Given the description of an element on the screen output the (x, y) to click on. 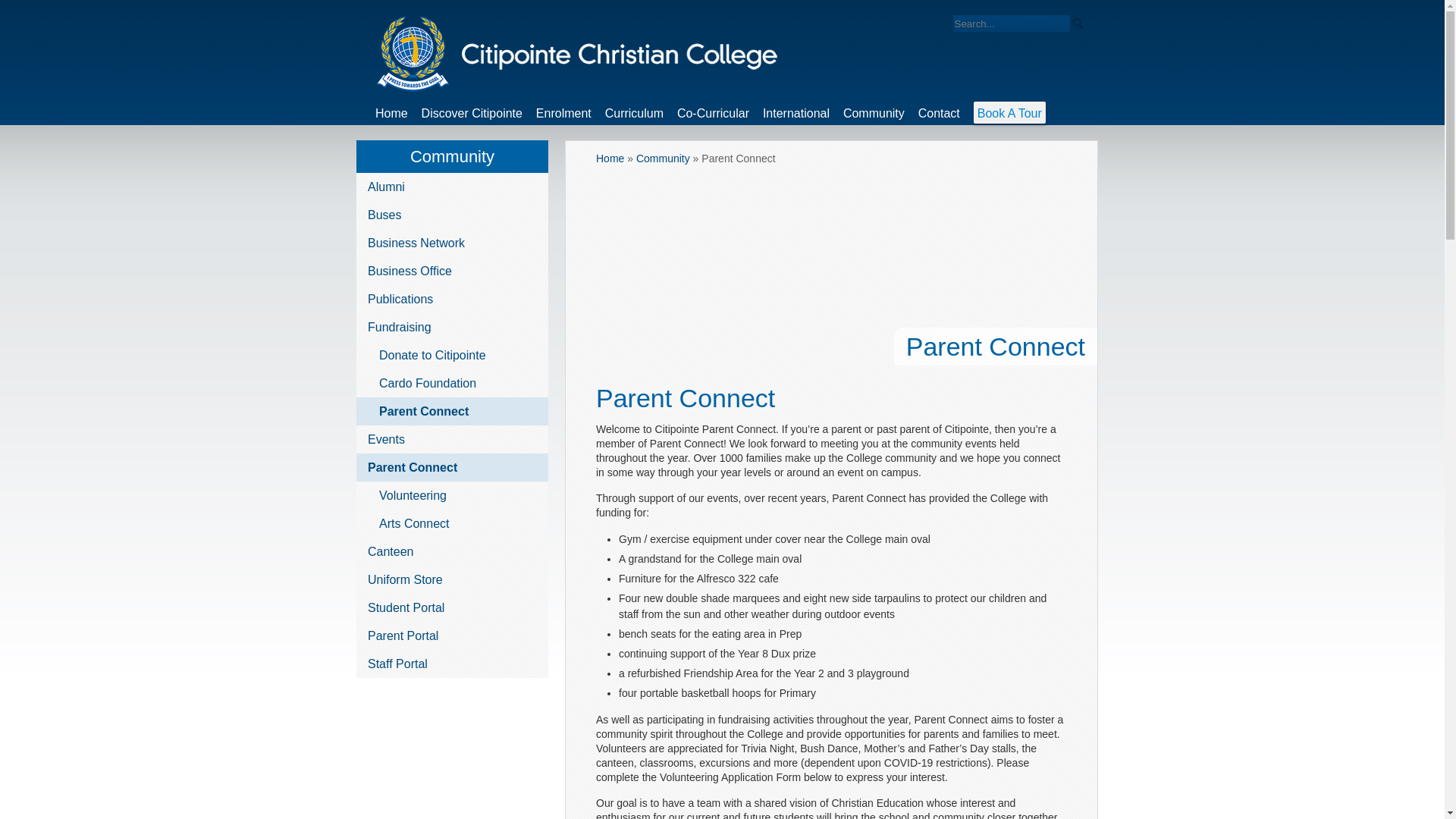
Enrolment (563, 117)
Home (391, 117)
Curriculum (634, 117)
Discover Citipointe (472, 117)
